Given the description of an element on the screen output the (x, y) to click on. 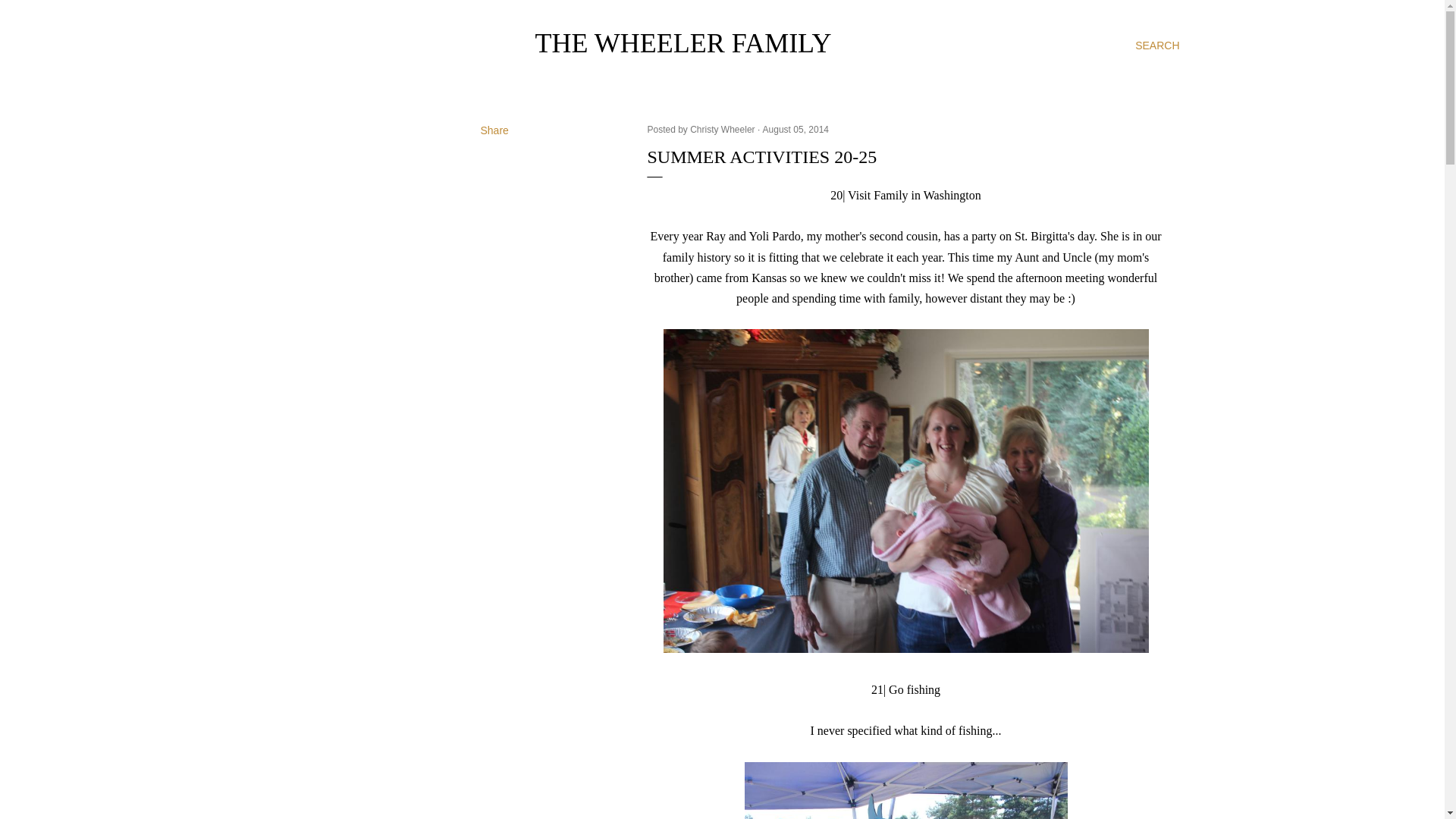
SEARCH (1157, 45)
author profile (723, 129)
August 05, 2014 (795, 129)
Christy Wheeler (723, 129)
permanent link (795, 129)
Share (494, 130)
THE WHEELER FAMILY (683, 42)
